Given the description of an element on the screen output the (x, y) to click on. 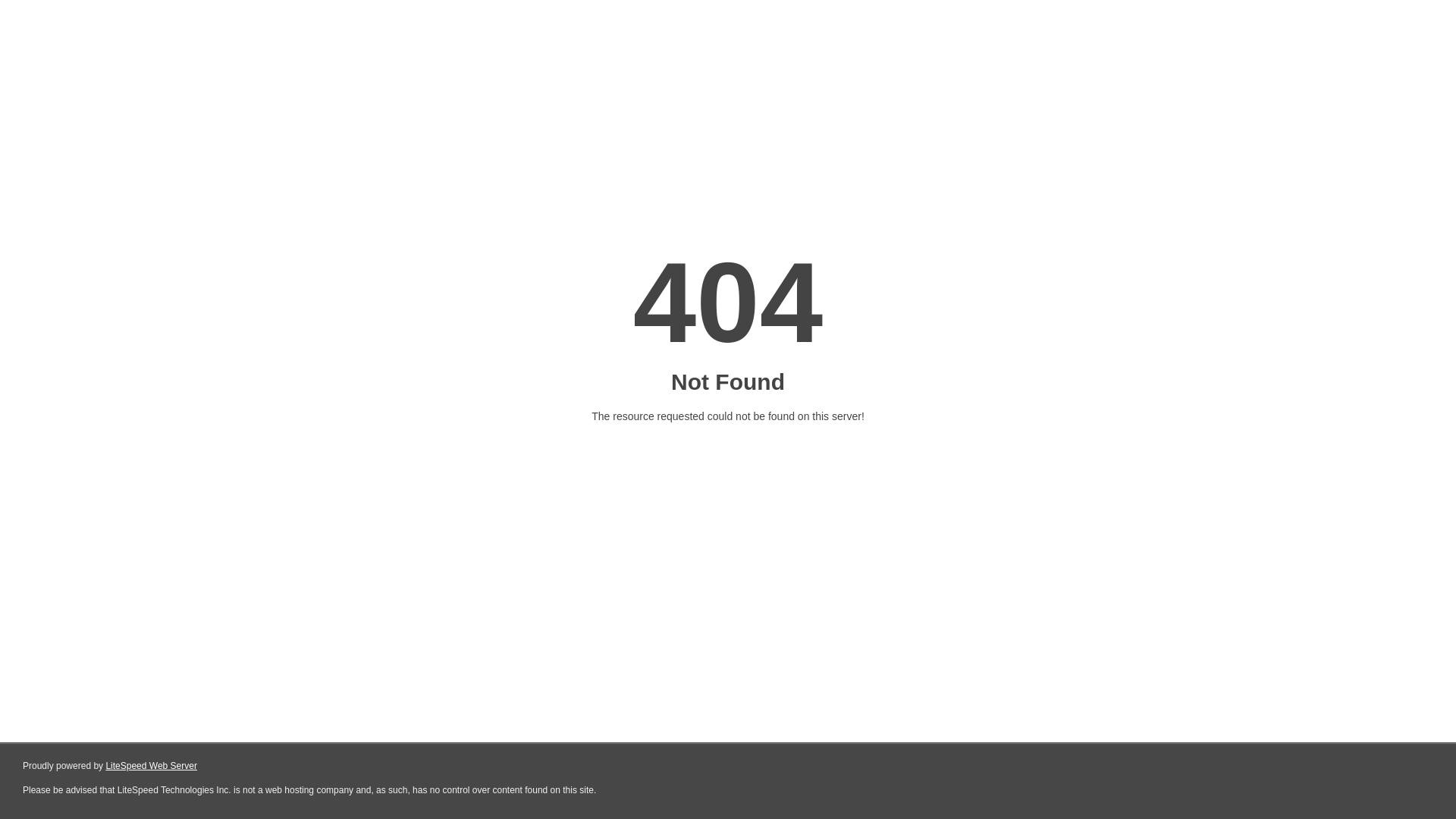
LiteSpeed Web Server Element type: text (151, 765)
